Given the description of an element on the screen output the (x, y) to click on. 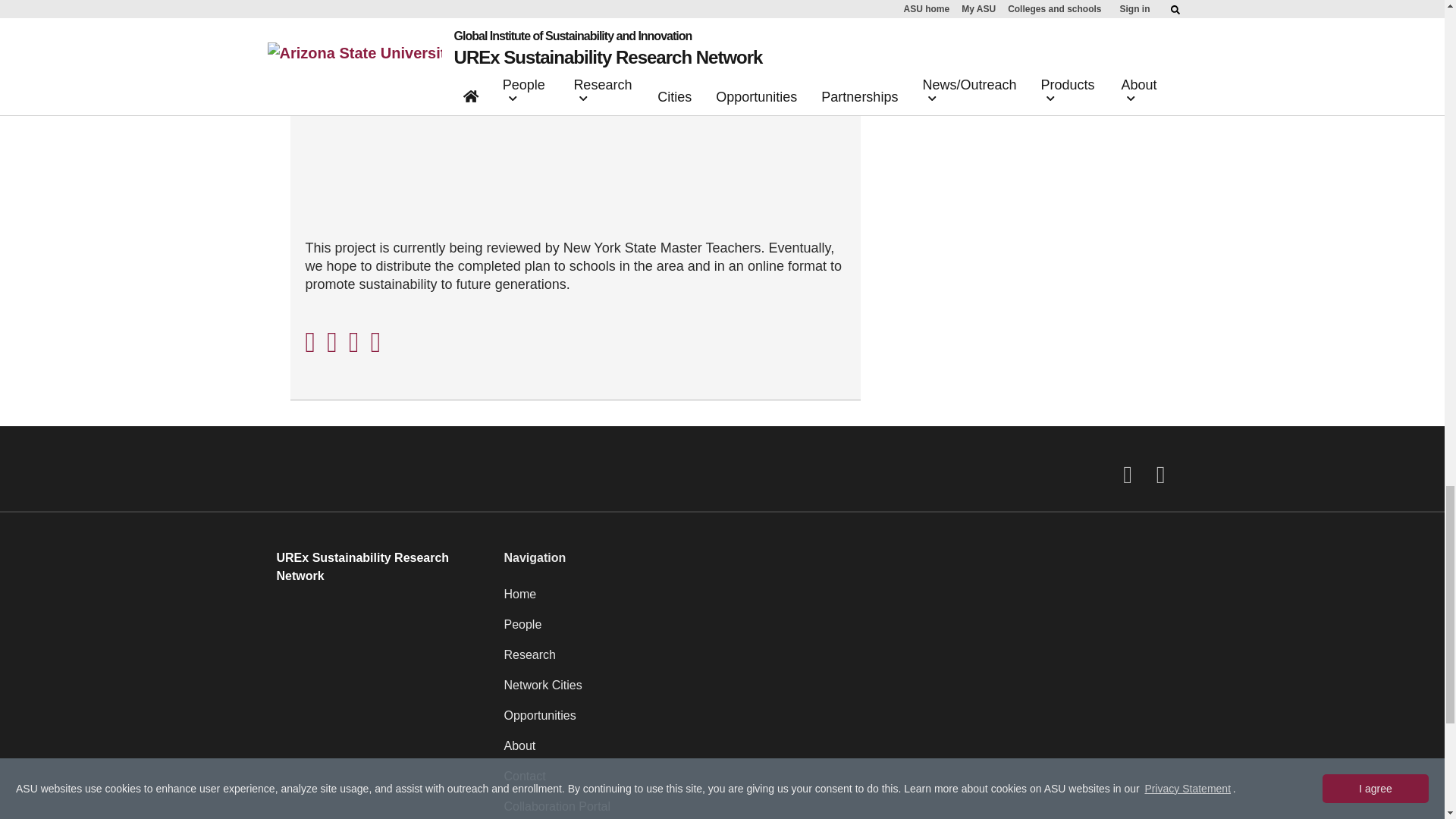
Collaboration Portal (835, 808)
Home (835, 600)
About (835, 752)
Opportunities (835, 721)
Research (835, 661)
Network Cities (835, 691)
Contact (835, 782)
People (835, 630)
